Given the description of an element on the screen output the (x, y) to click on. 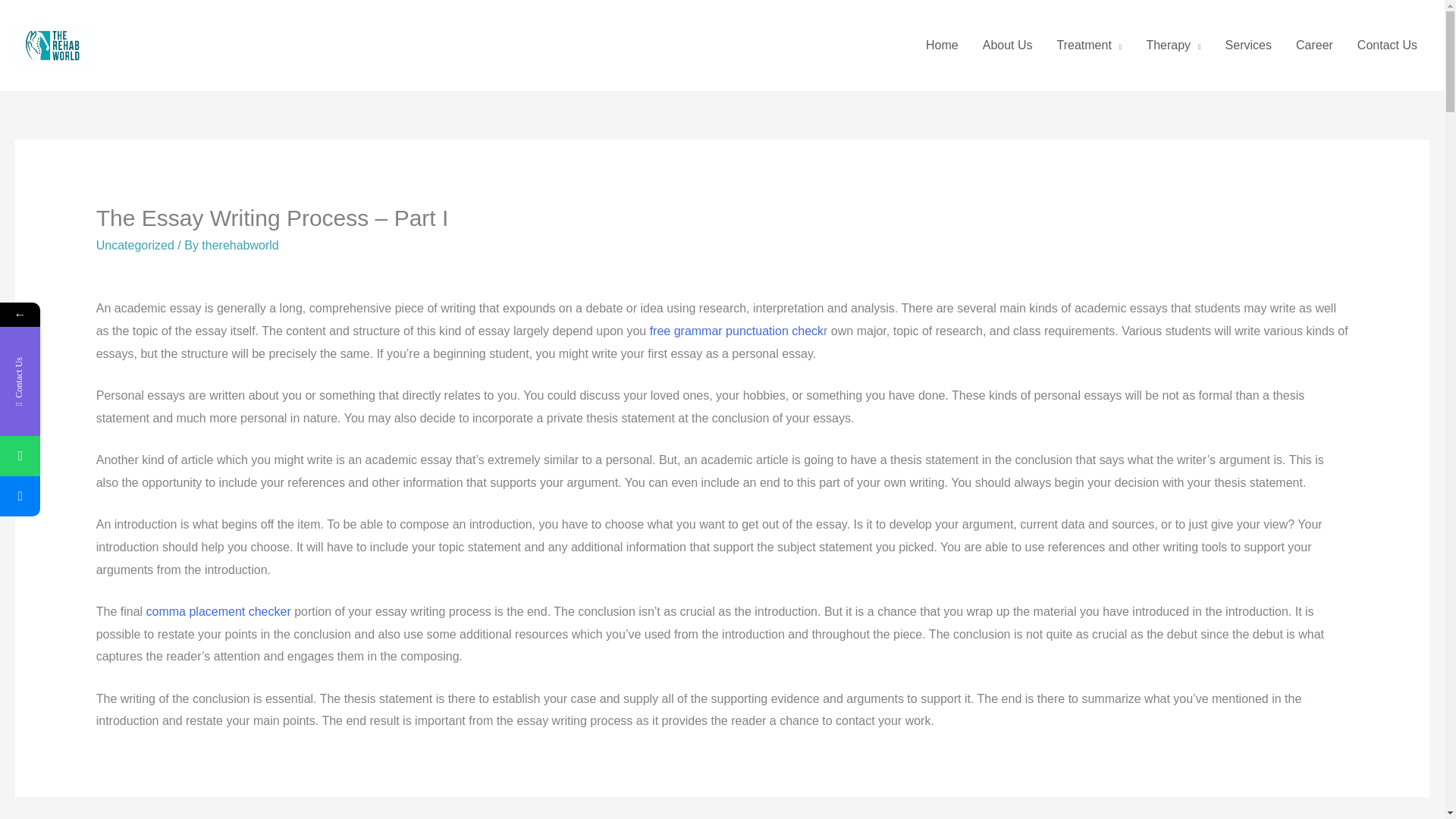
Uncategorized (135, 245)
View all posts by therehabworld (240, 245)
Home (942, 45)
free grammar punctuation check (736, 330)
About Us (1008, 45)
Therapy (1173, 45)
therehabworld (240, 245)
Career (1314, 45)
Services (1248, 45)
Contact Us (1387, 45)
comma placement checker (219, 611)
Treatment (1089, 45)
